Given the description of an element on the screen output the (x, y) to click on. 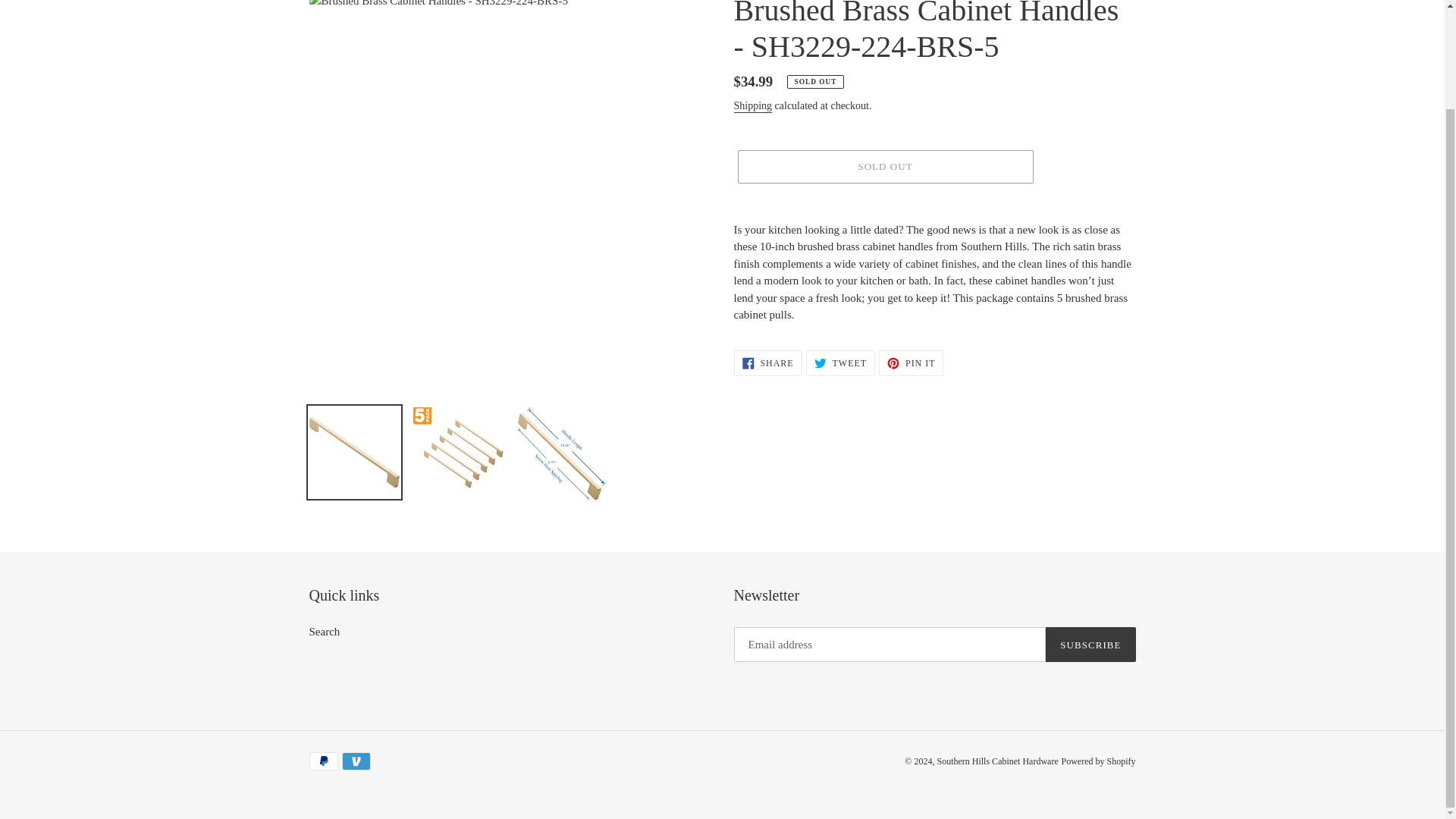
SOLD OUT (884, 166)
Search (324, 631)
Southern Hills Cabinet Hardware (997, 760)
SUBSCRIBE (1090, 644)
Shipping (753, 106)
Powered by Shopify (767, 362)
